Given the description of an element on the screen output the (x, y) to click on. 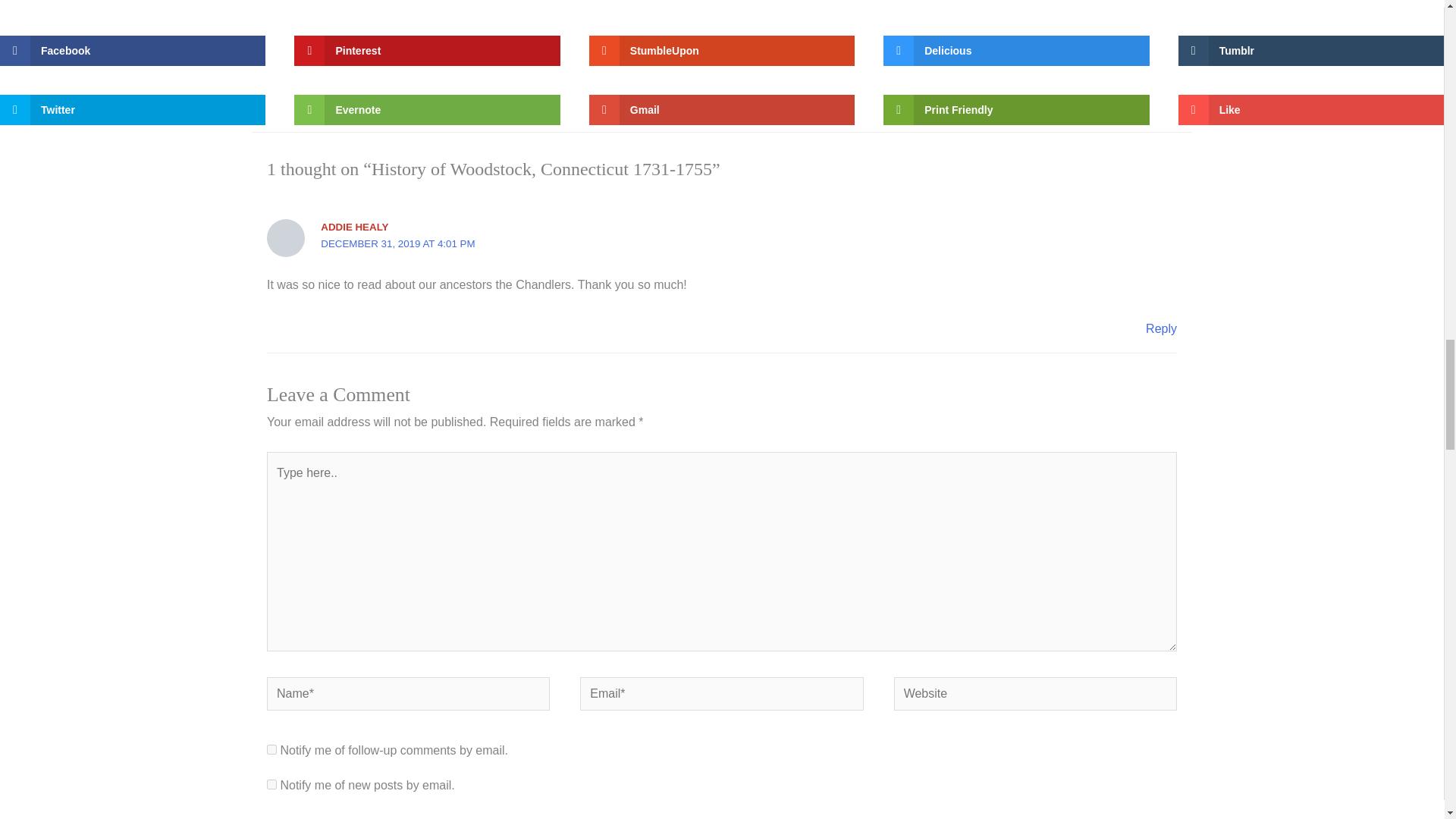
subscribe (271, 749)
Tumblr (1310, 51)
Print Friendly (1015, 110)
Twitter (132, 110)
subscribe (271, 784)
StumbleUpon (721, 51)
Evernote (426, 110)
Facebook (132, 51)
Reply (1160, 328)
Pinterest (426, 51)
Gmail (721, 110)
Delicious (1015, 51)
Like (1310, 110)
DECEMBER 31, 2019 AT 4:01 PM (397, 243)
